Given the description of an element on the screen output the (x, y) to click on. 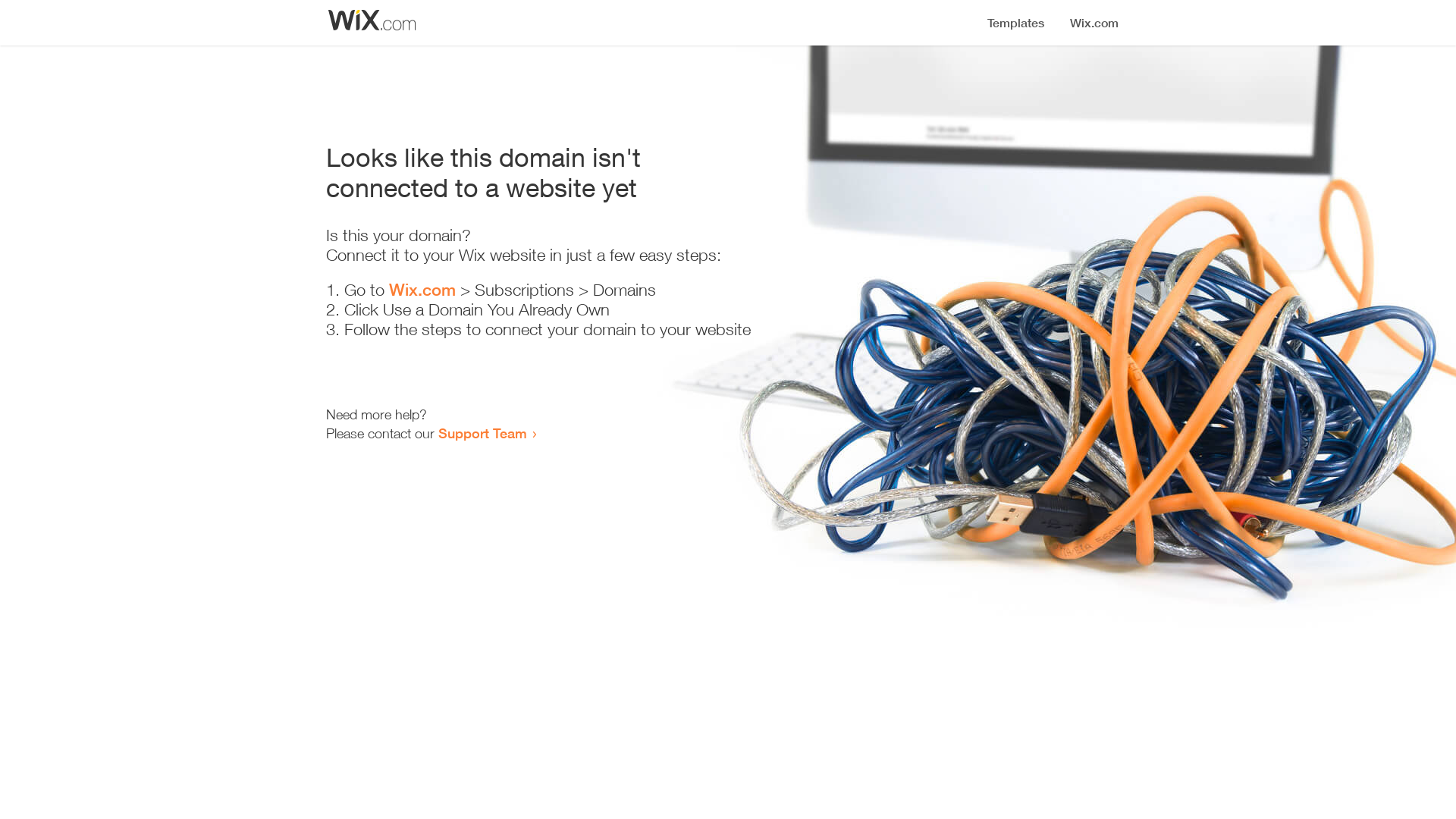
Wix.com Element type: text (422, 289)
Support Team Element type: text (482, 432)
